Given the description of an element on the screen output the (x, y) to click on. 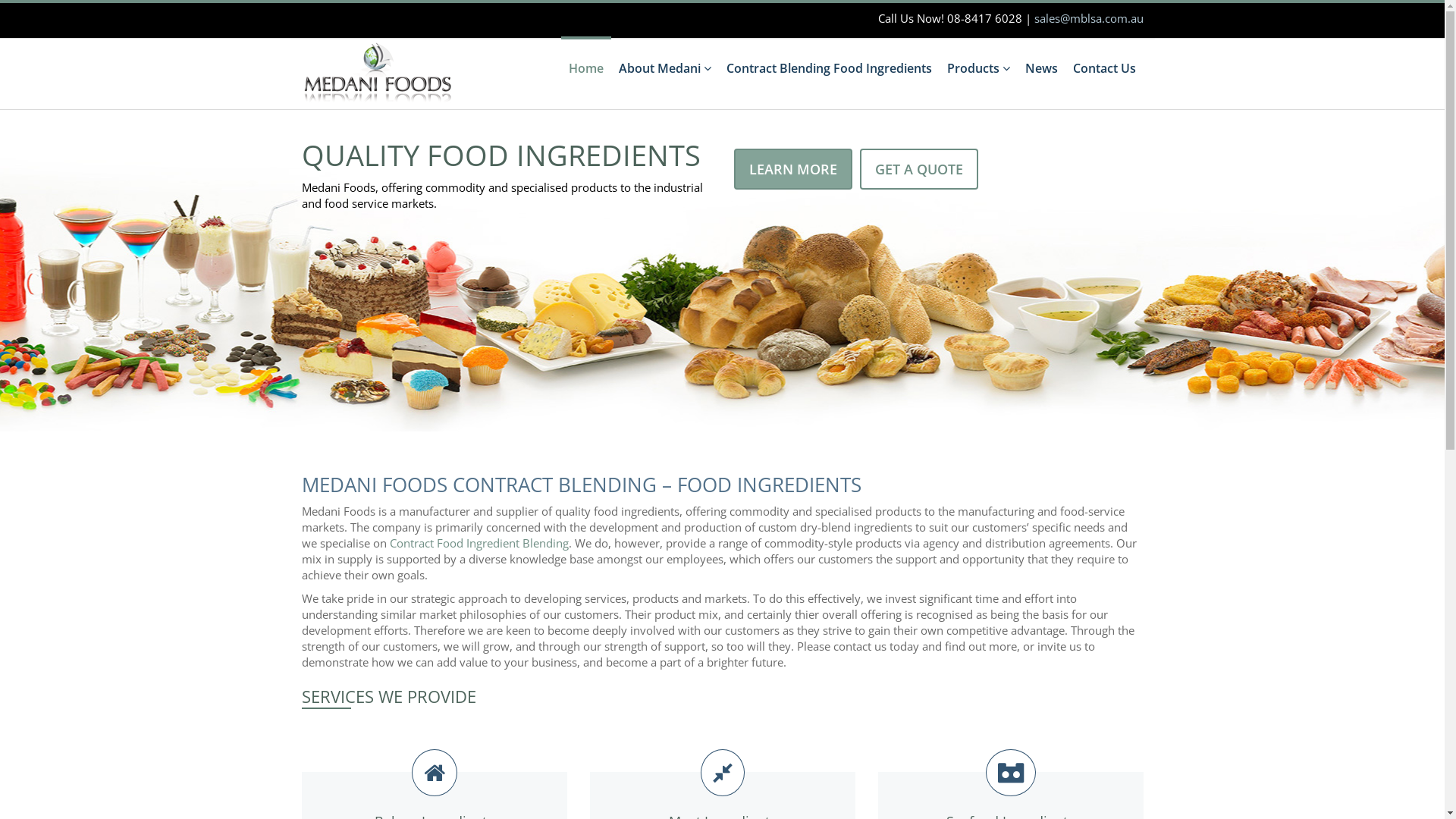
Home Element type: text (586, 68)
News Element type: text (1041, 68)
GET A QUOTE Element type: text (918, 168)
Contract Food Ingredient Blending Element type: text (478, 542)
Contract Blending Food Ingredients Element type: text (828, 68)
LEARN MORE Element type: text (793, 168)
Contact Us Element type: text (1103, 68)
sales@mblsa.com.au Element type: text (1088, 17)
Products Element type: text (977, 68)
About Medani Element type: text (664, 68)
